Given the description of an element on the screen output the (x, y) to click on. 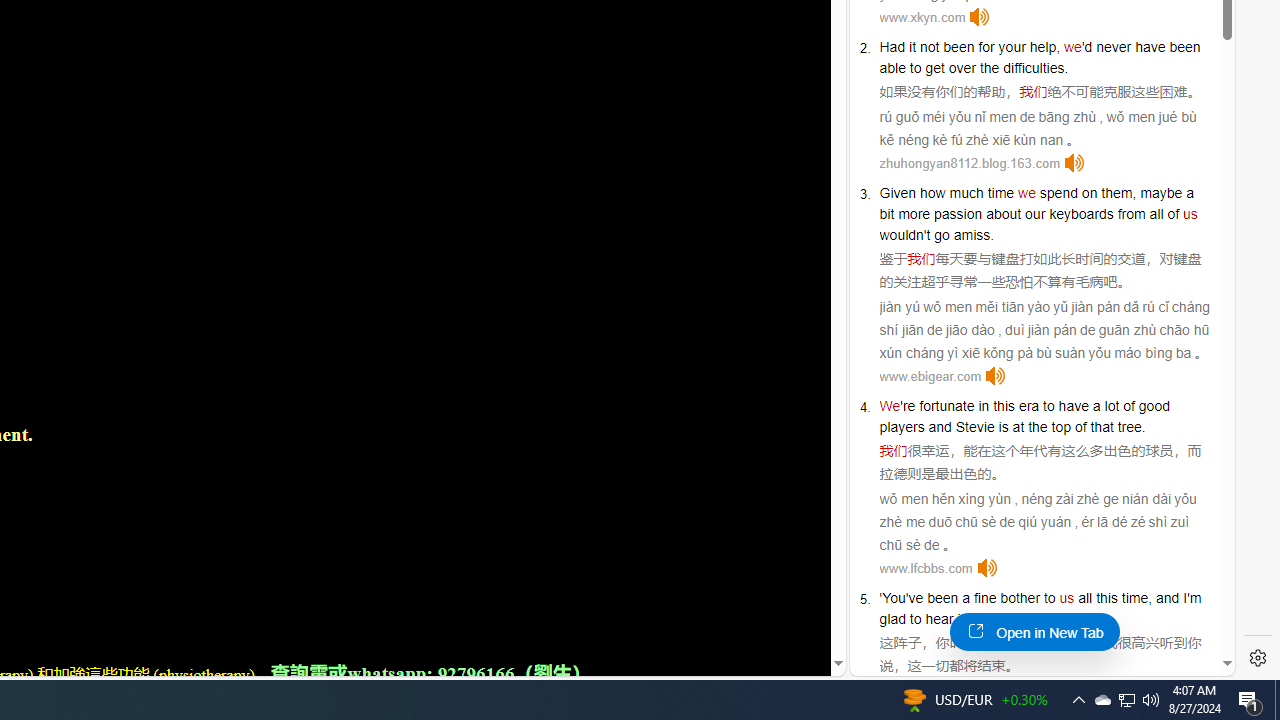
help (1043, 46)
time (1000, 192)
www.xkyn.com (922, 17)
'm (1193, 597)
going (994, 619)
